Given the description of an element on the screen output the (x, y) to click on. 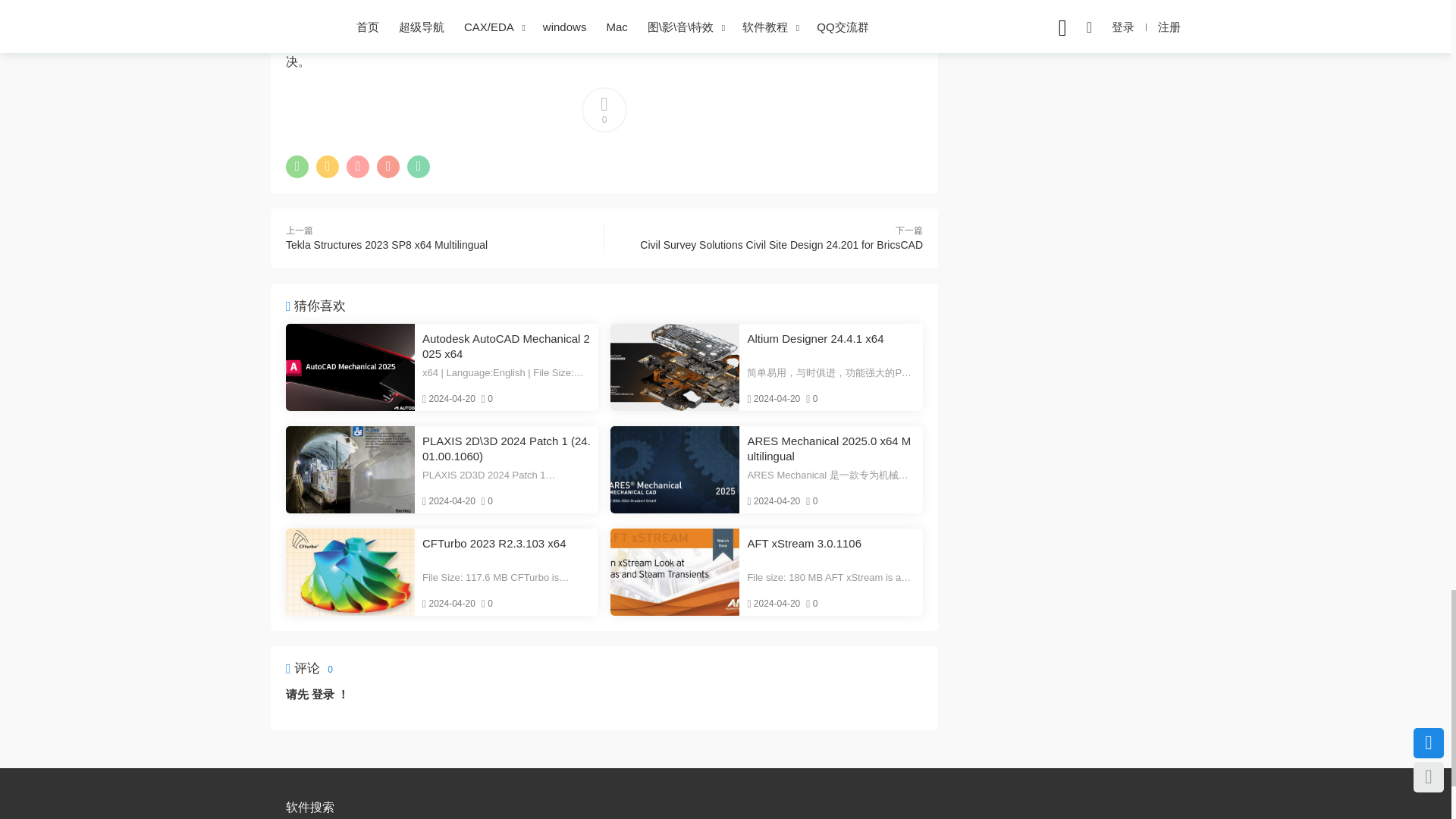
CFTurbo 2023 R2.3.103 x64 (349, 571)
AFT xStream 3.0.1106 (674, 571)
ARES Mechanical 2025.0 x64 Multilingual (831, 449)
AFT xStream 3.0.1106 (831, 551)
ARES Mechanical 2025.0 x64 Multilingual (674, 469)
Autodesk AutoCAD Mechanical 2025 x64 (349, 367)
CFTurbo 2023 R2.3.103 x64 (507, 551)
Altium Designer 24.4.1 x64 (831, 346)
Altium Designer 24.4.1 x64 (674, 367)
Autodesk AutoCAD Mechanical 2025 x64 (507, 346)
